Given the description of an element on the screen output the (x, y) to click on. 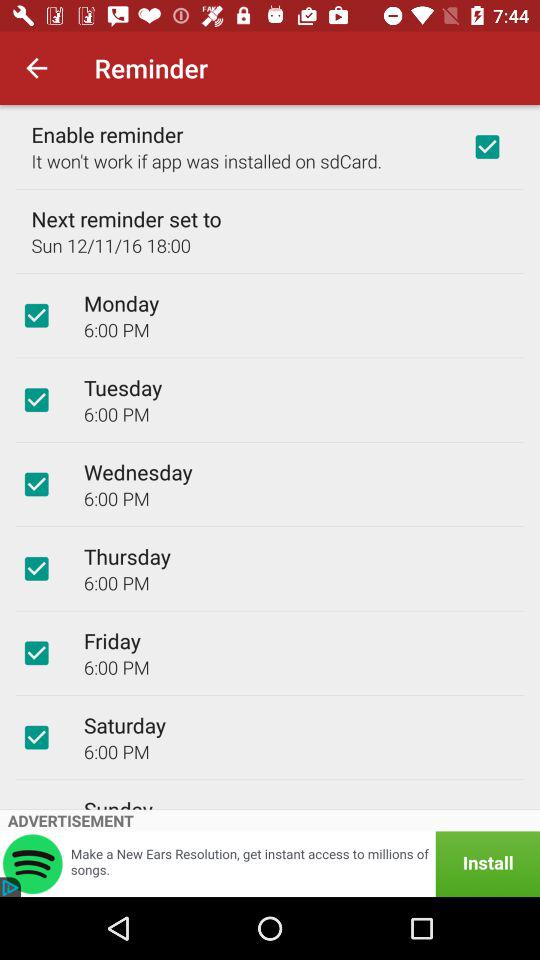
choose this option (36, 400)
